Given the description of an element on the screen output the (x, y) to click on. 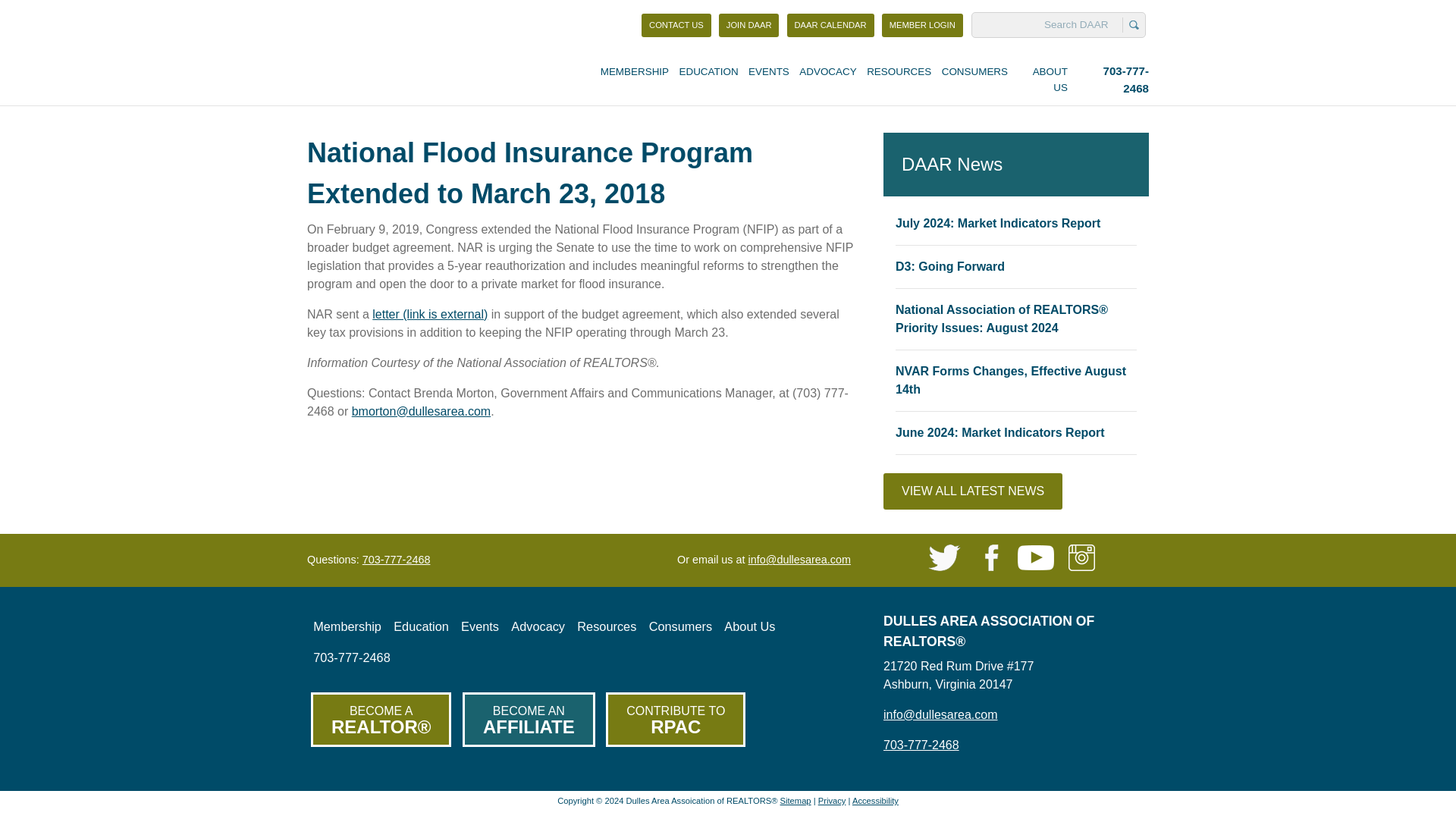
Search for: (1048, 24)
CONTACT US (676, 24)
Click to Call (396, 559)
DAAR CALENDAR (831, 24)
JOIN DAAR (748, 24)
Click to Call (922, 24)
Search (921, 744)
